Given the description of an element on the screen output the (x, y) to click on. 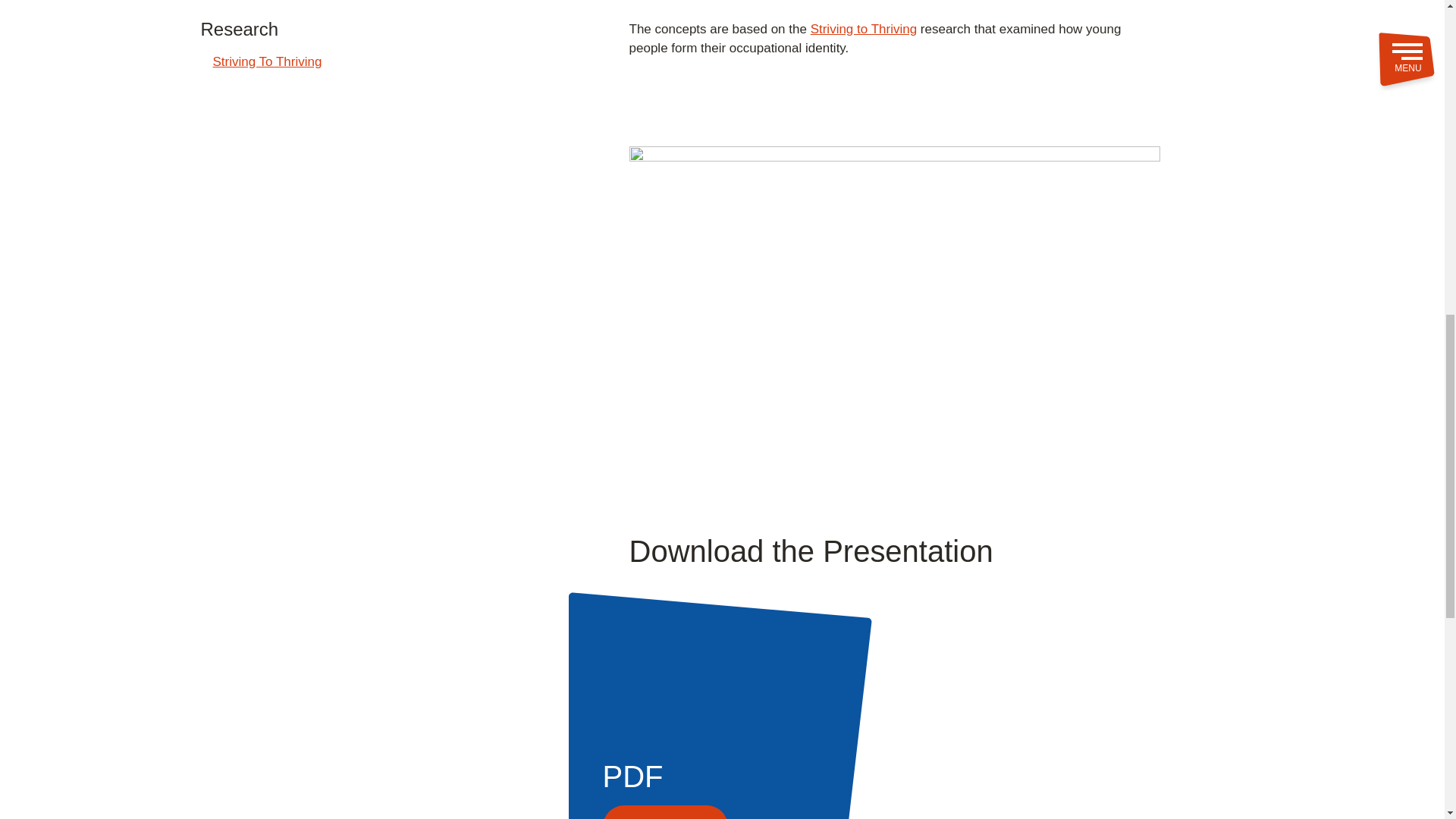
Download (1011, 812)
Download (665, 812)
Youth Quote Library (269, 1)
Striving To Thriving (266, 62)
Striving to Thriving (863, 29)
